Given the description of an element on the screen output the (x, y) to click on. 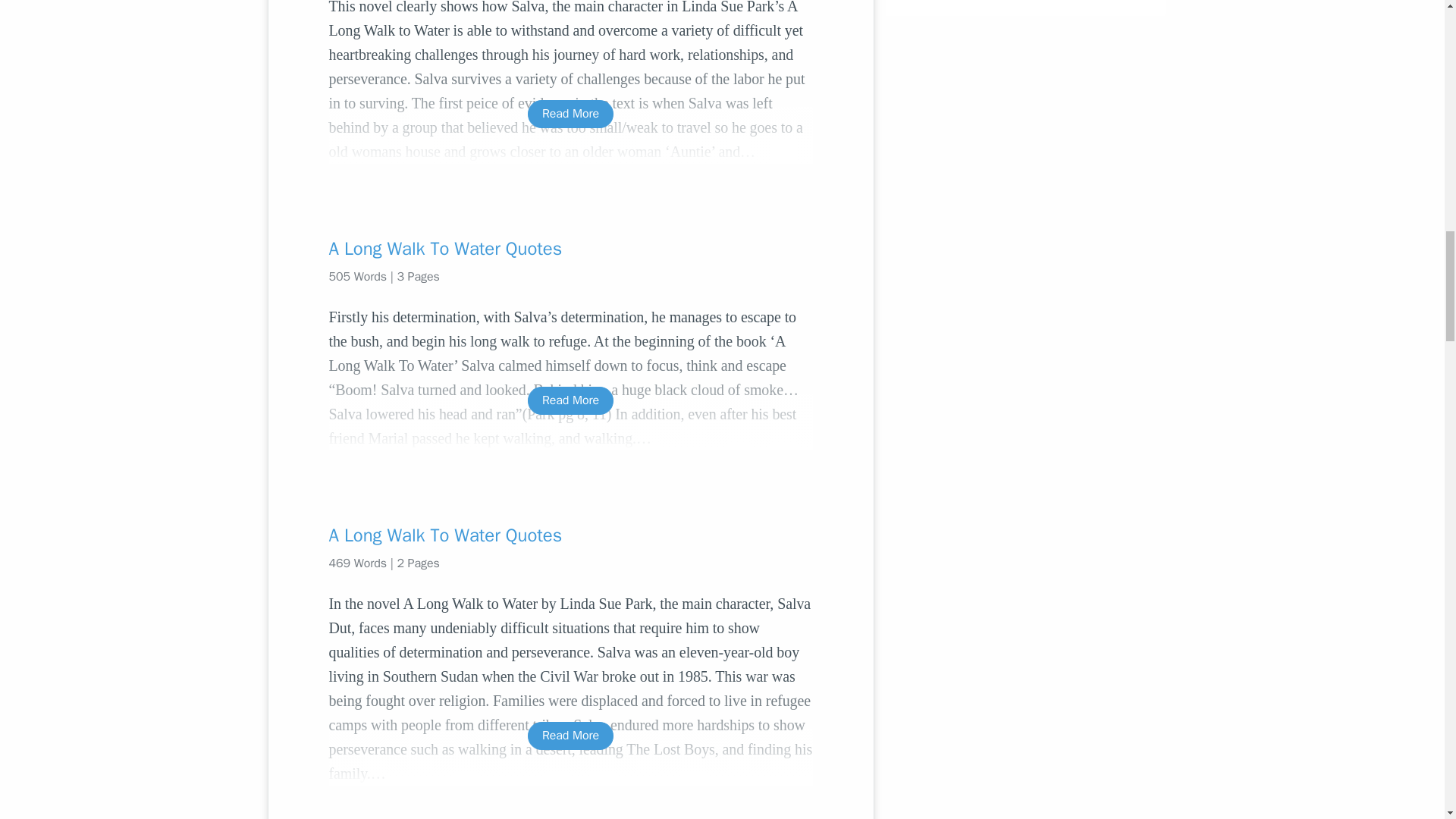
Read More (569, 113)
A Long Walk To Water Quotes (570, 535)
Read More (569, 400)
A Long Walk To Water Quotes (570, 248)
Read More (569, 735)
